Given the description of an element on the screen output the (x, y) to click on. 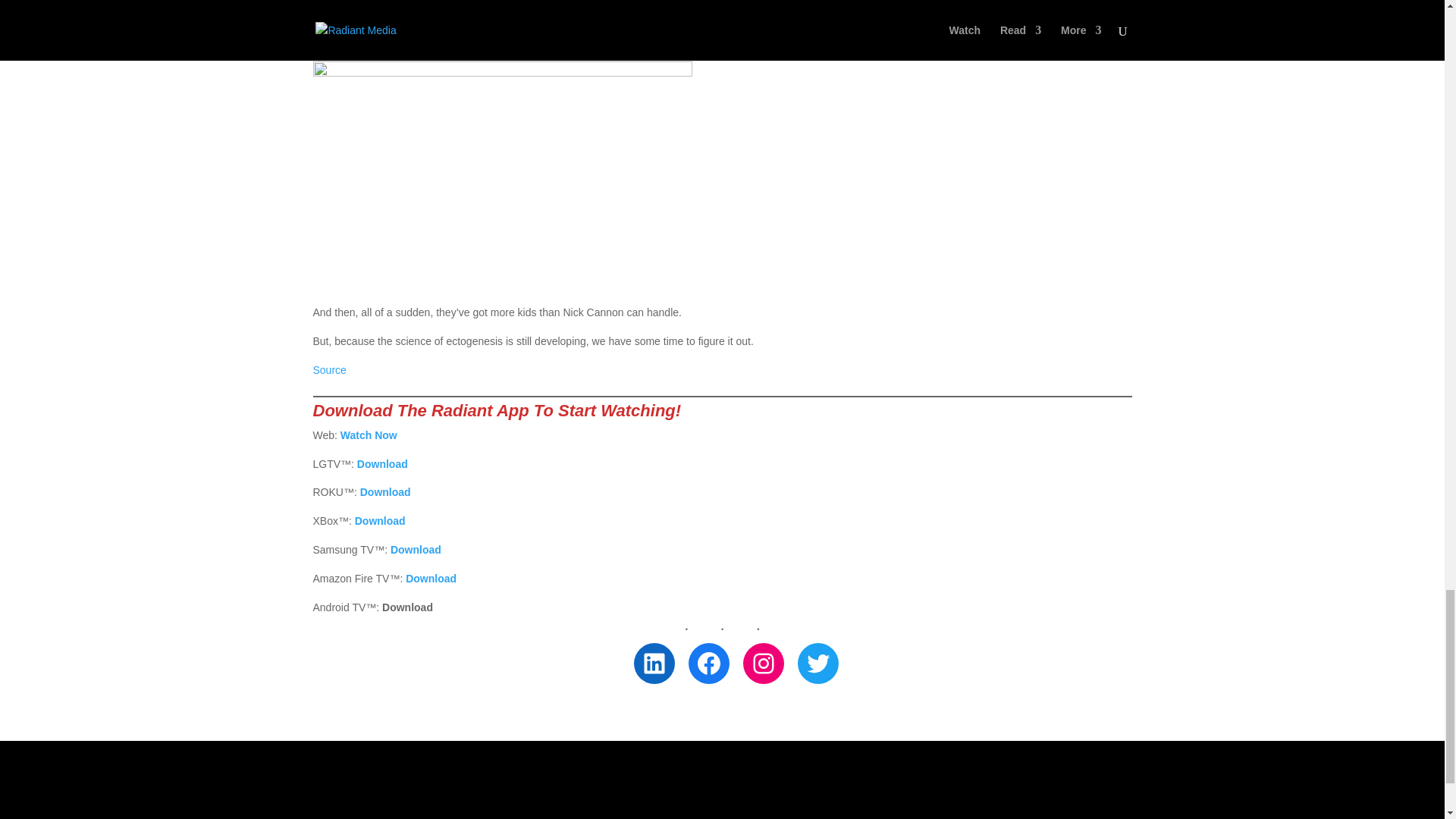
Facebook (708, 662)
LinkedIn (654, 662)
Download (431, 578)
Download (380, 521)
Watch Now (368, 435)
Instagram (763, 662)
Source (329, 369)
Download (381, 463)
Twitter (817, 662)
Download (415, 549)
Download (384, 491)
